Given the description of an element on the screen output the (x, y) to click on. 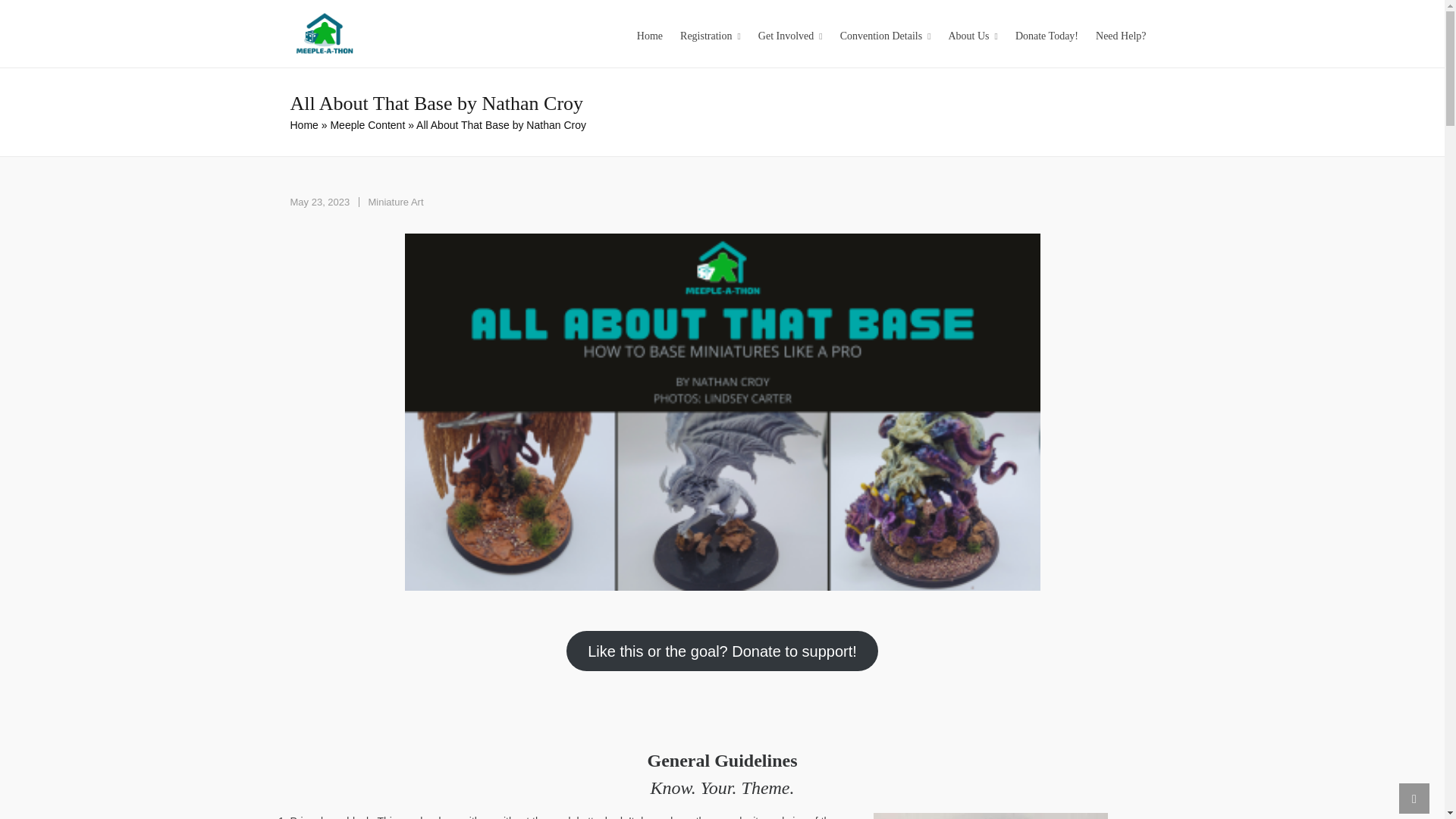
Convention Details (885, 33)
Get Involved (790, 33)
Registration (710, 33)
